Given the description of an element on the screen output the (x, y) to click on. 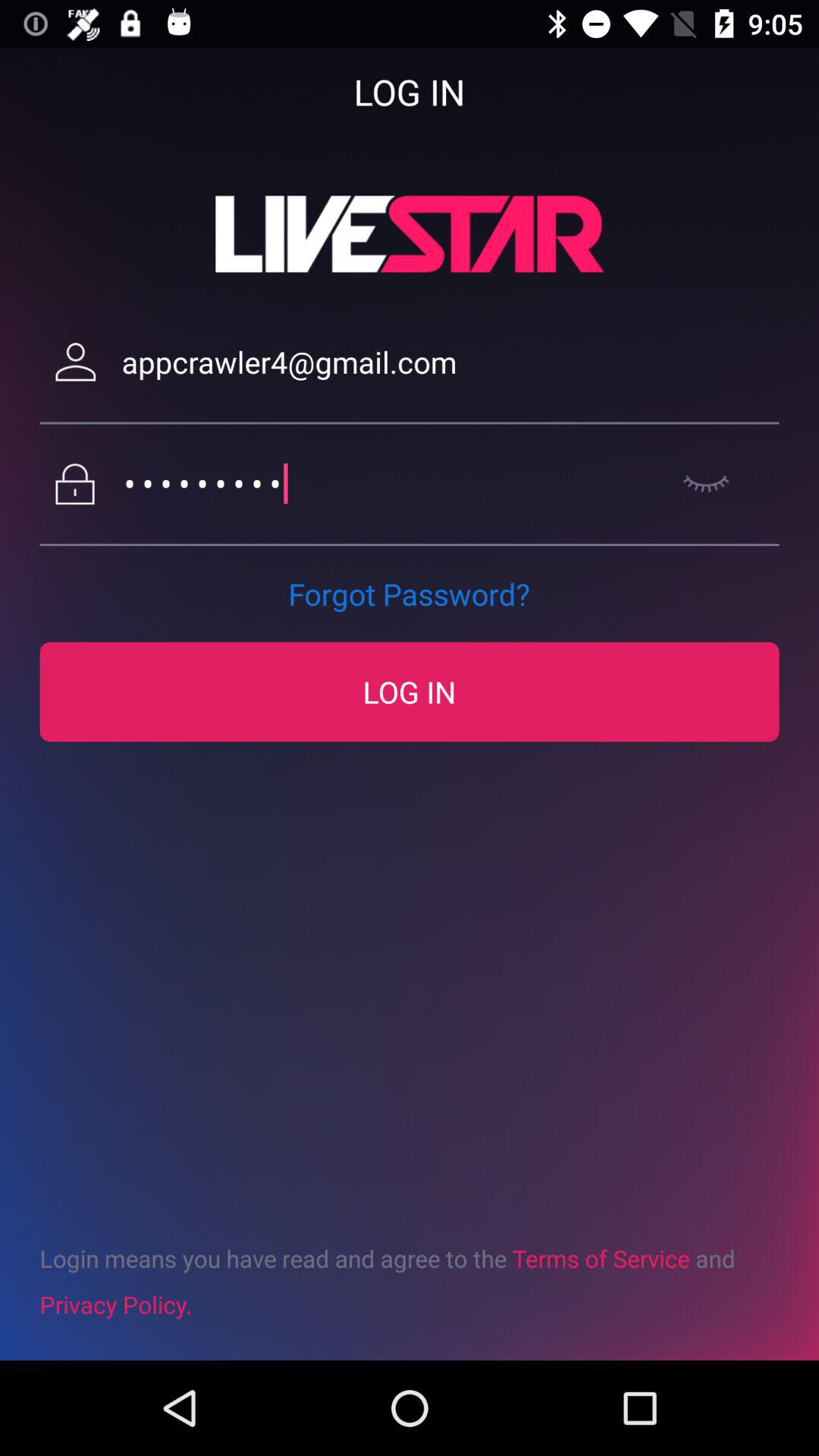
turn off the crowd3116 (391, 483)
